Given the description of an element on the screen output the (x, y) to click on. 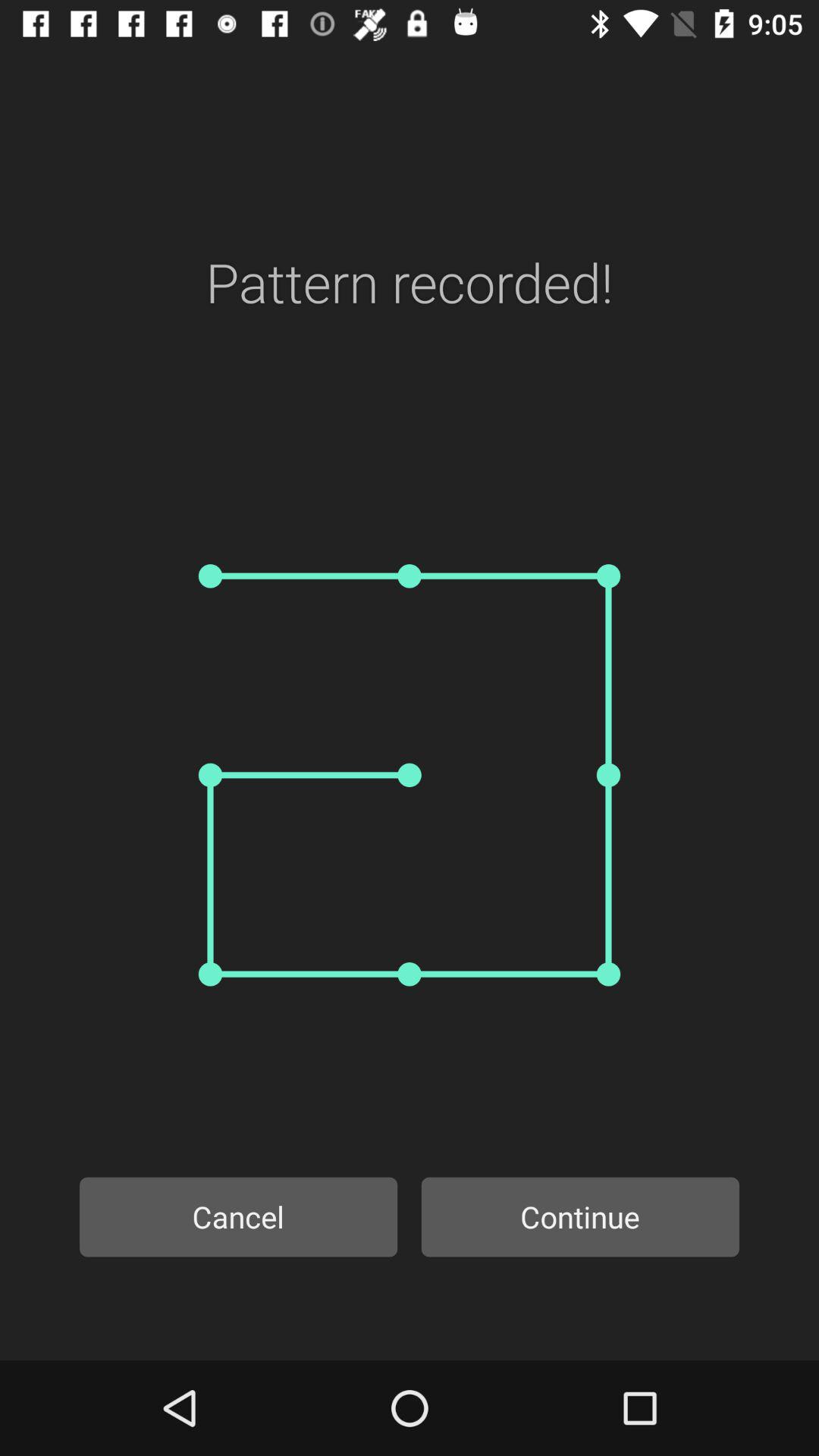
click item at the bottom left corner (238, 1216)
